Given the description of an element on the screen output the (x, y) to click on. 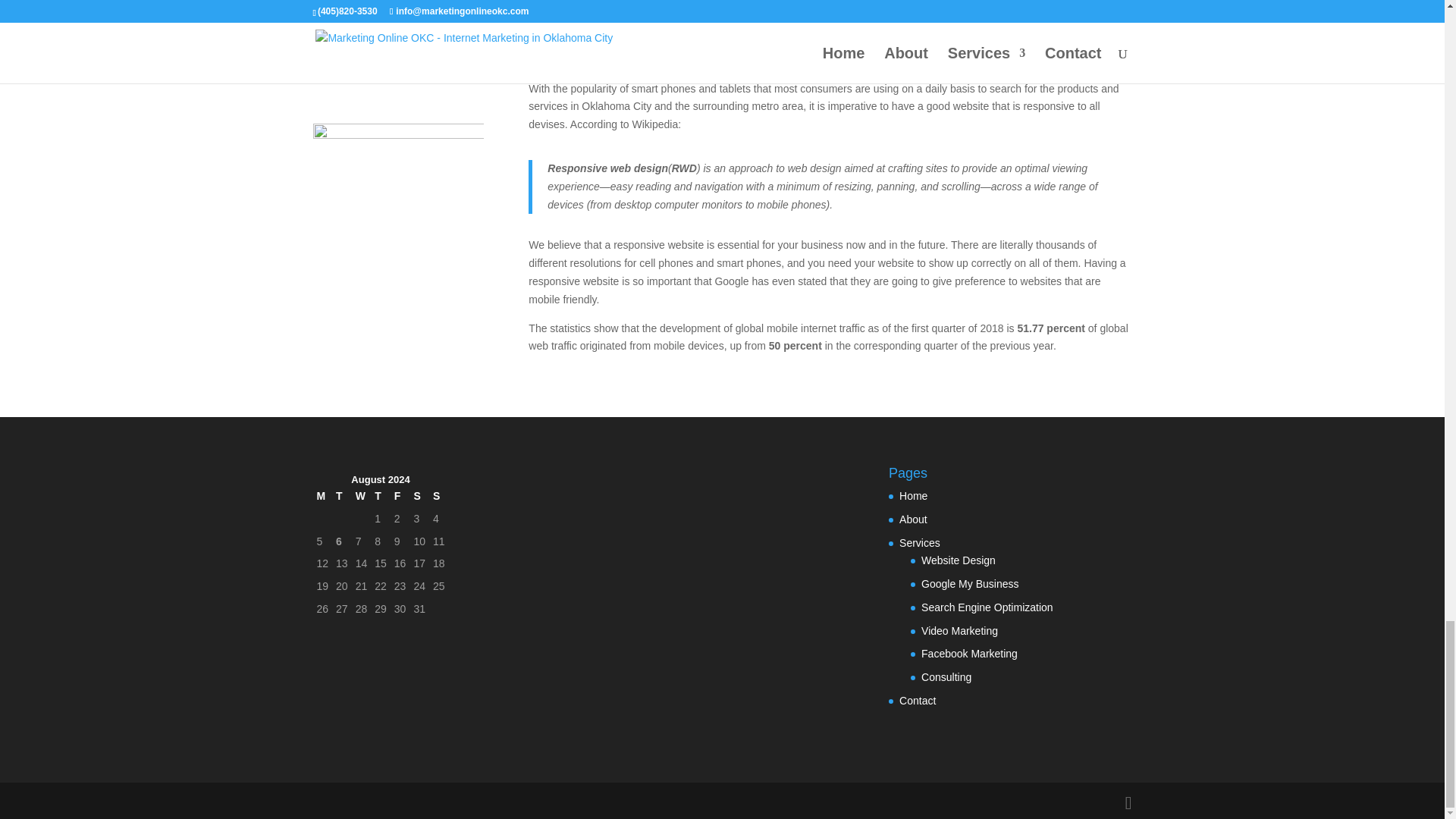
Website Design (958, 560)
Consulting (946, 676)
Video Marketing (959, 630)
Search Engine Optimization (986, 607)
Google My Business (969, 583)
Services (919, 542)
Contact (917, 700)
Facebook Marketing (969, 653)
About (913, 519)
Home (913, 495)
